Given the description of an element on the screen output the (x, y) to click on. 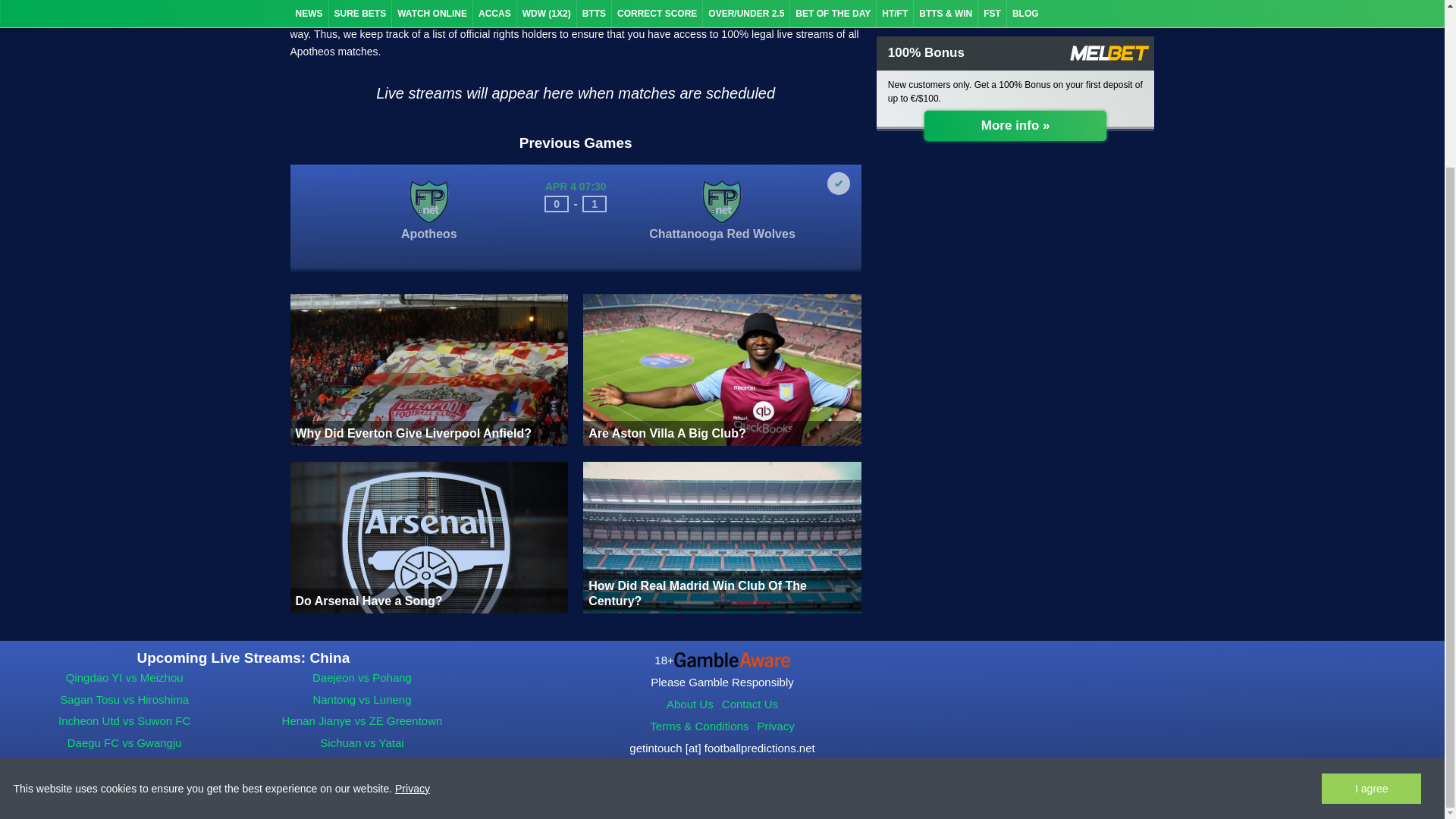
Why Did Everton Give Liverpool Anfield? (428, 369)
Chattanooga Red Wolves (722, 248)
Apotheos (428, 248)
Are Aston Villa A Big Club? (722, 369)
Do Arsenal Have a Song? (428, 537)
